Given the description of an element on the screen output the (x, y) to click on. 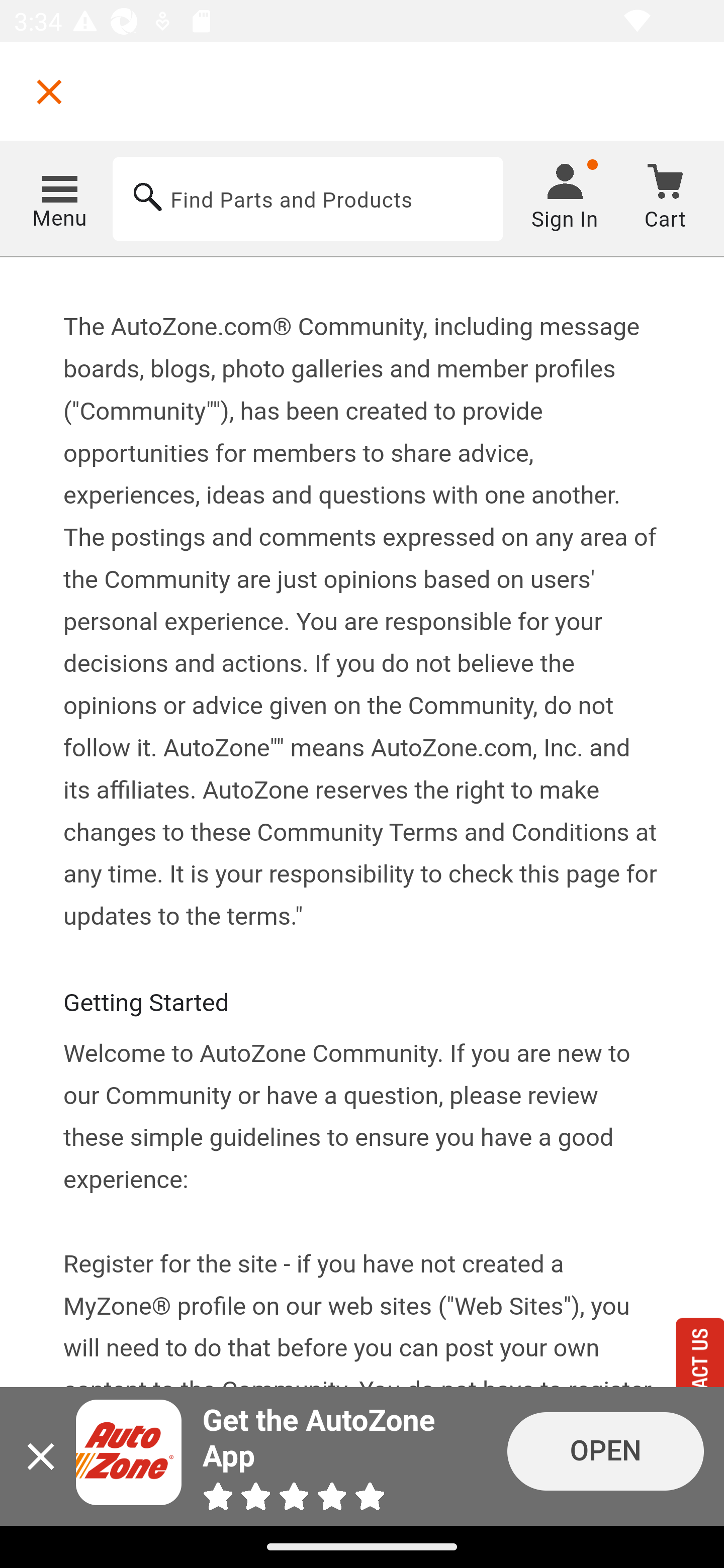
 (49, 91)
Close icon Get the AutoZone App OPEN (362, 1456)
